Given the description of an element on the screen output the (x, y) to click on. 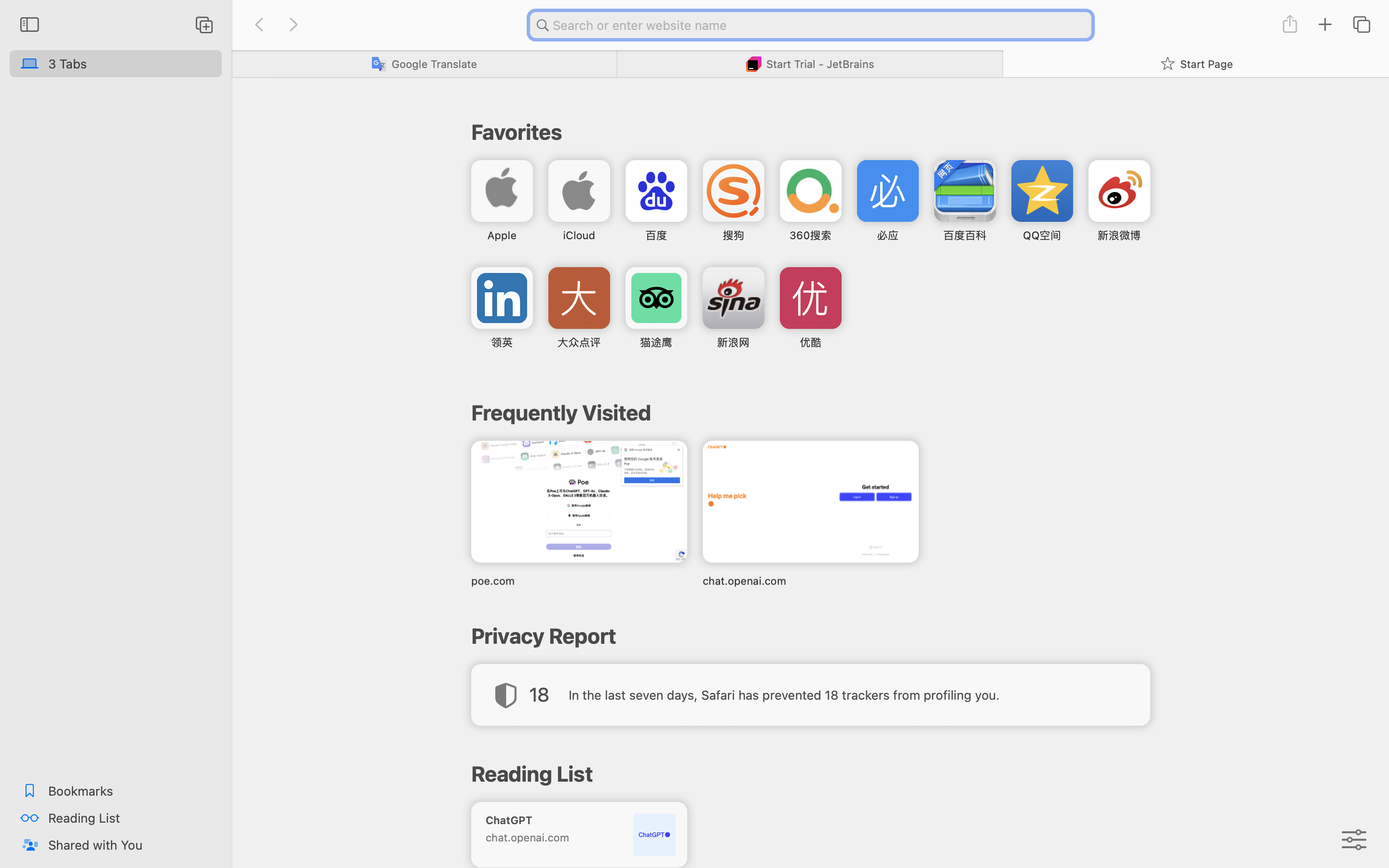
百度 Element type: AXButton (655, 235)
QQ空间 Element type: AXButton (1041, 235)
360搜索 Element type: AXButton (810, 235)
优酷 Element type: AXButton (810, 342)
